Given the description of an element on the screen output the (x, y) to click on. 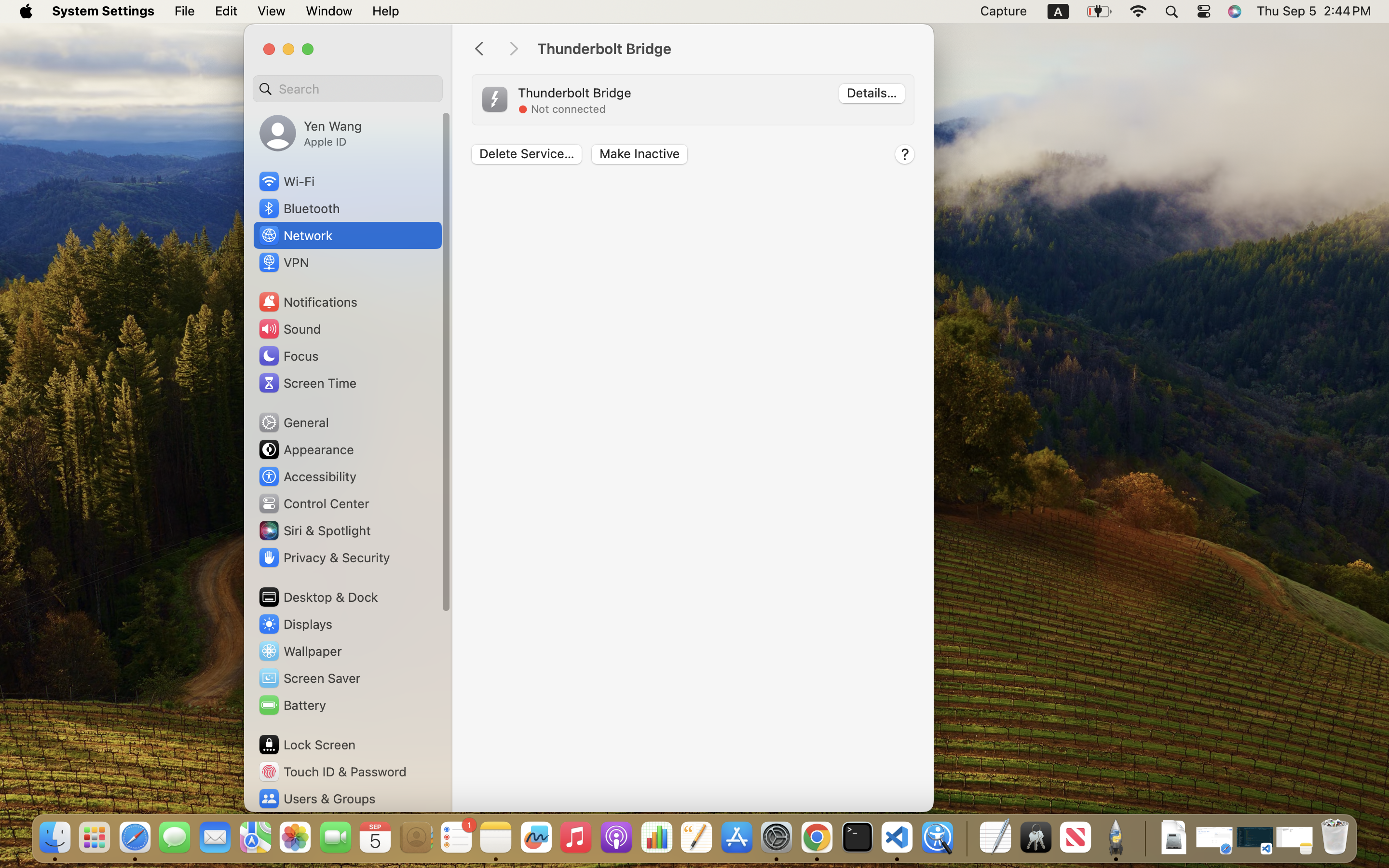
Users & Groups Element type: AXStaticText (316, 798)
Battery Element type: AXStaticText (291, 704)
Appearance Element type: AXStaticText (305, 449)
Touch ID & Password Element type: AXStaticText (332, 771)
Lock Screen Element type: AXStaticText (306, 744)
